Given the description of an element on the screen output the (x, y) to click on. 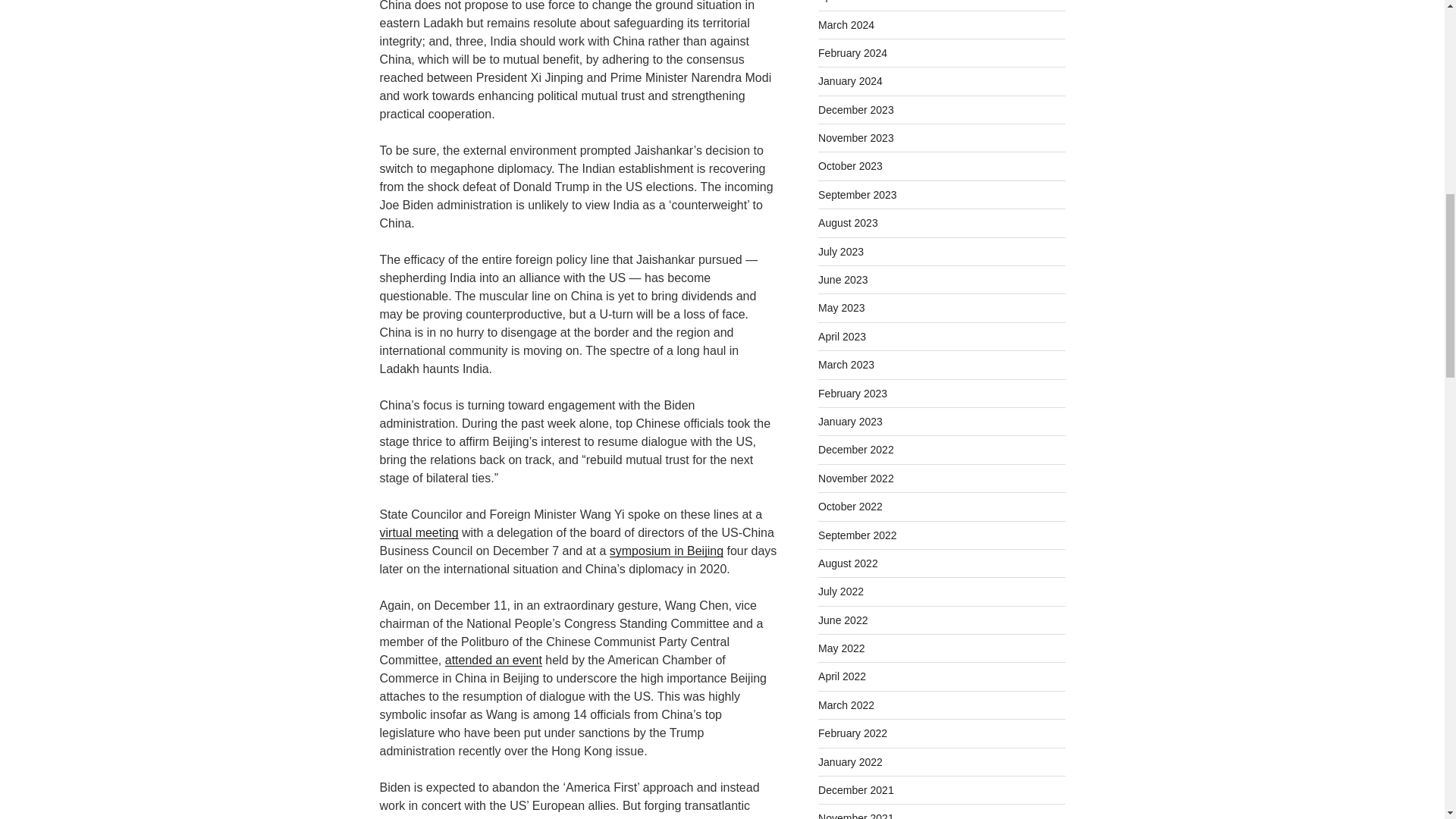
attended an event (493, 659)
January 2024 (850, 80)
March 2024 (846, 24)
October 2023 (850, 165)
November 2023 (855, 137)
symposium in Beijing (666, 550)
April 2024 (842, 1)
September 2023 (857, 194)
February 2024 (852, 52)
virtual meeting (418, 532)
December 2023 (855, 110)
